Given the description of an element on the screen output the (x, y) to click on. 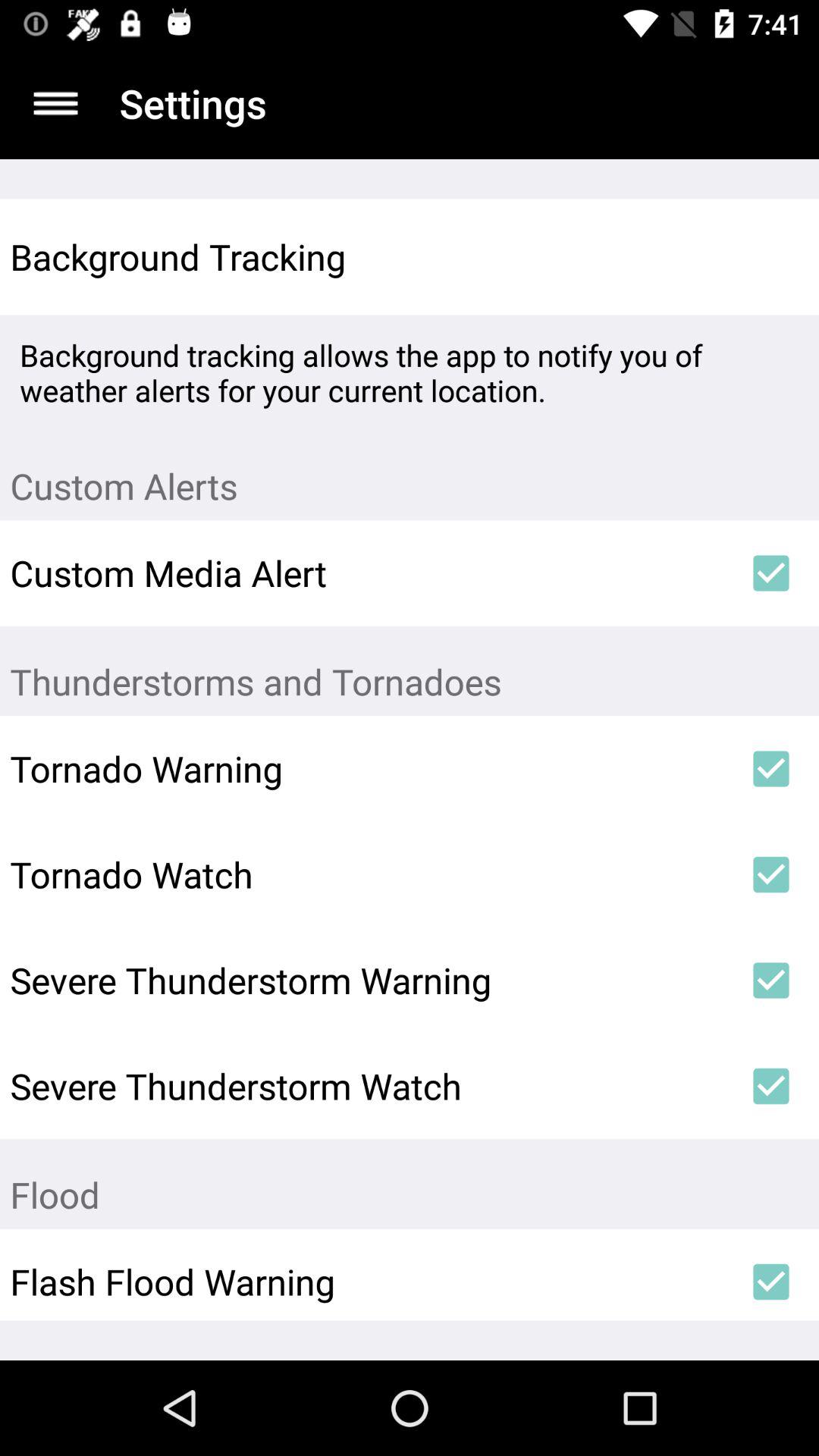
open the item above the background tracking (55, 103)
